Given the description of an element on the screen output the (x, y) to click on. 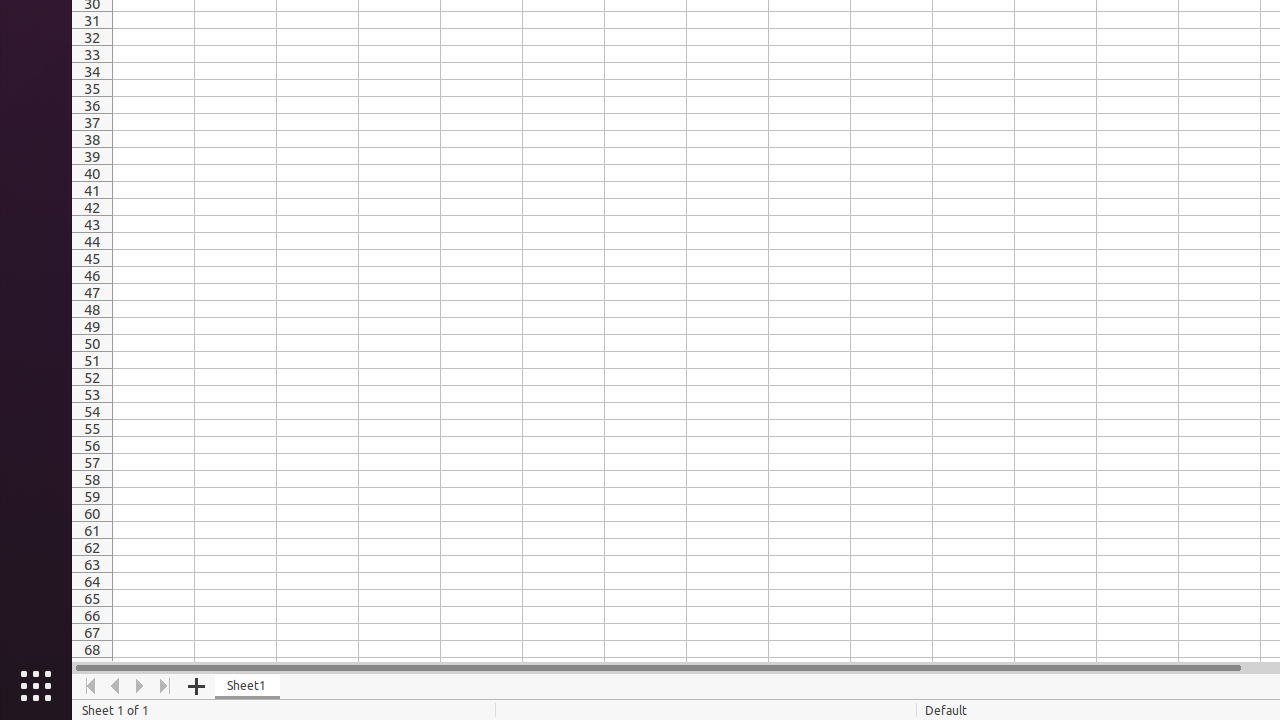
Move To Home Element type: push-button (90, 686)
